Given the description of an element on the screen output the (x, y) to click on. 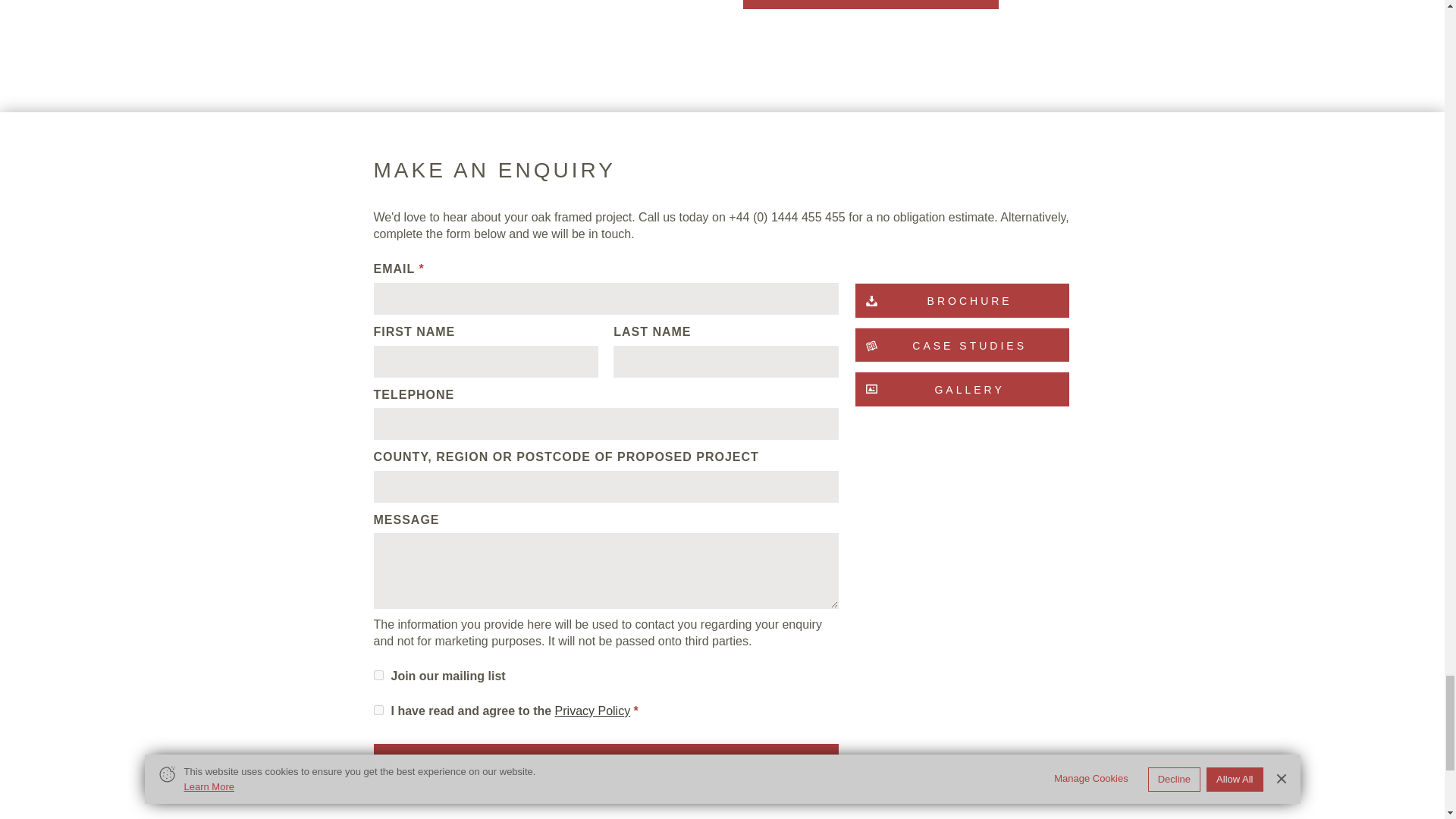
Send (605, 758)
on (377, 675)
privacy policy (592, 711)
on (377, 709)
